Given the description of an element on the screen output the (x, y) to click on. 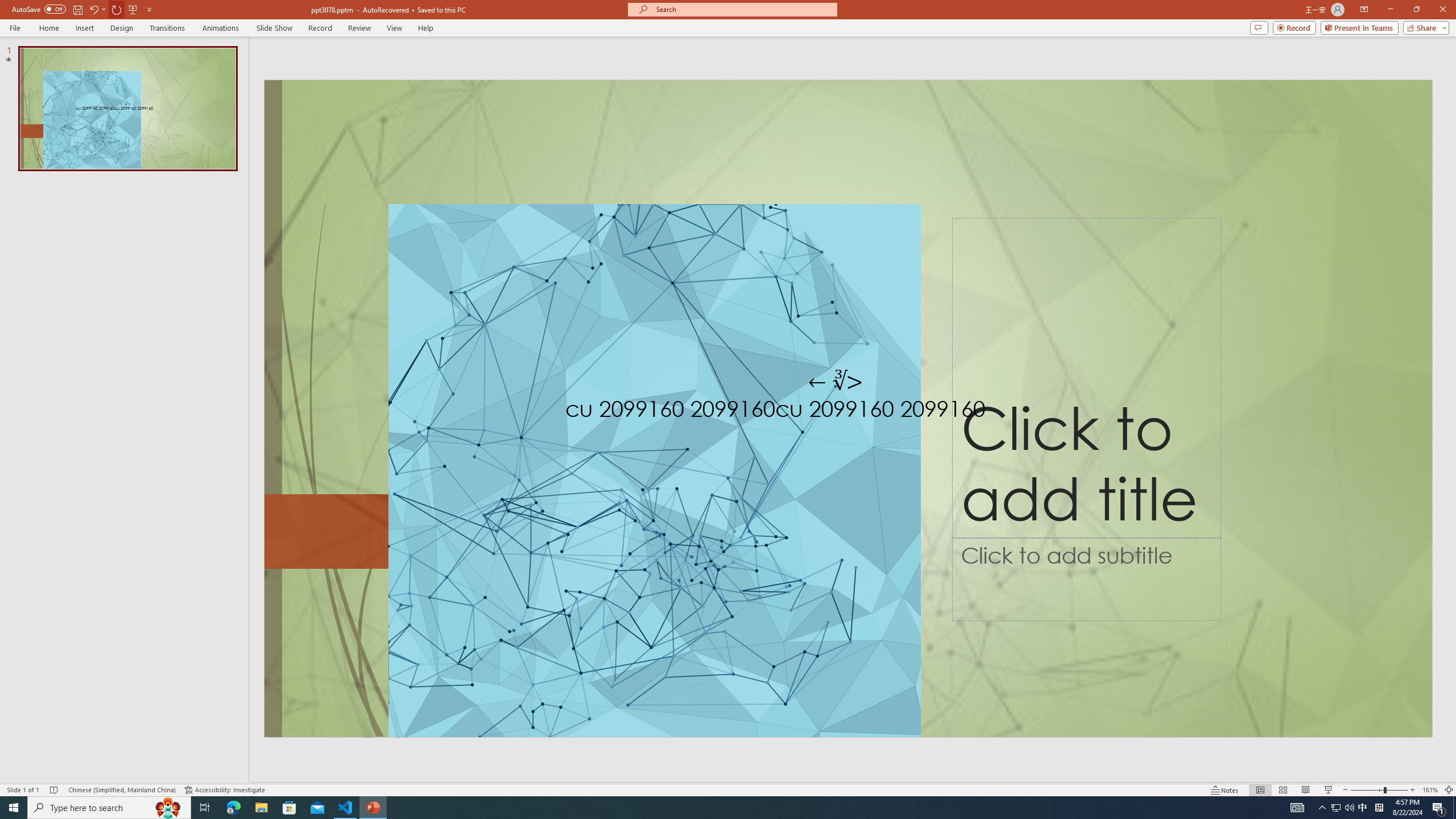
Zoom 161% (1430, 790)
